Given the description of an element on the screen output the (x, y) to click on. 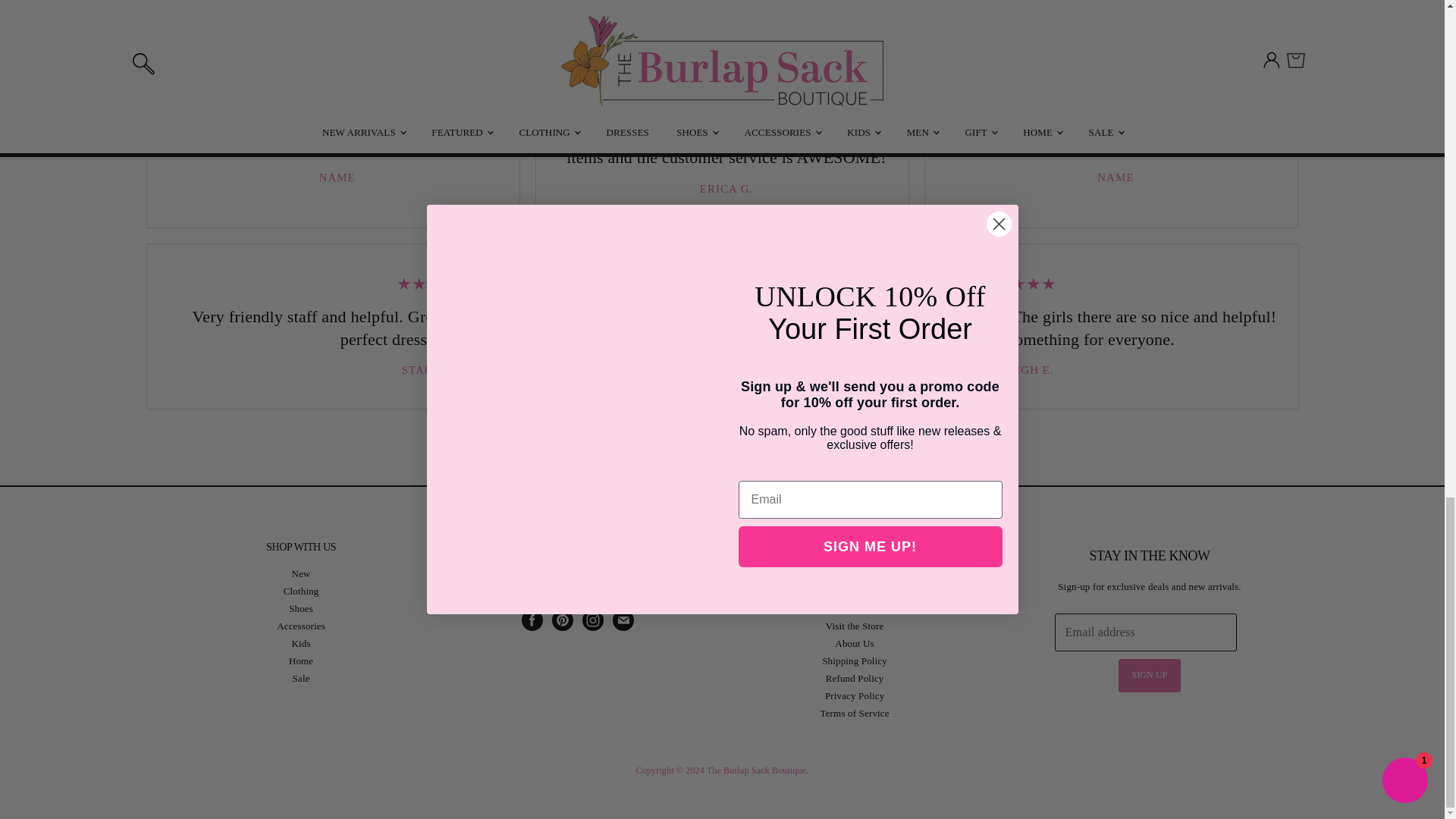
E-mail (623, 619)
Instagram (593, 619)
Facebook (532, 619)
Pinterest (562, 619)
